Given the description of an element on the screen output the (x, y) to click on. 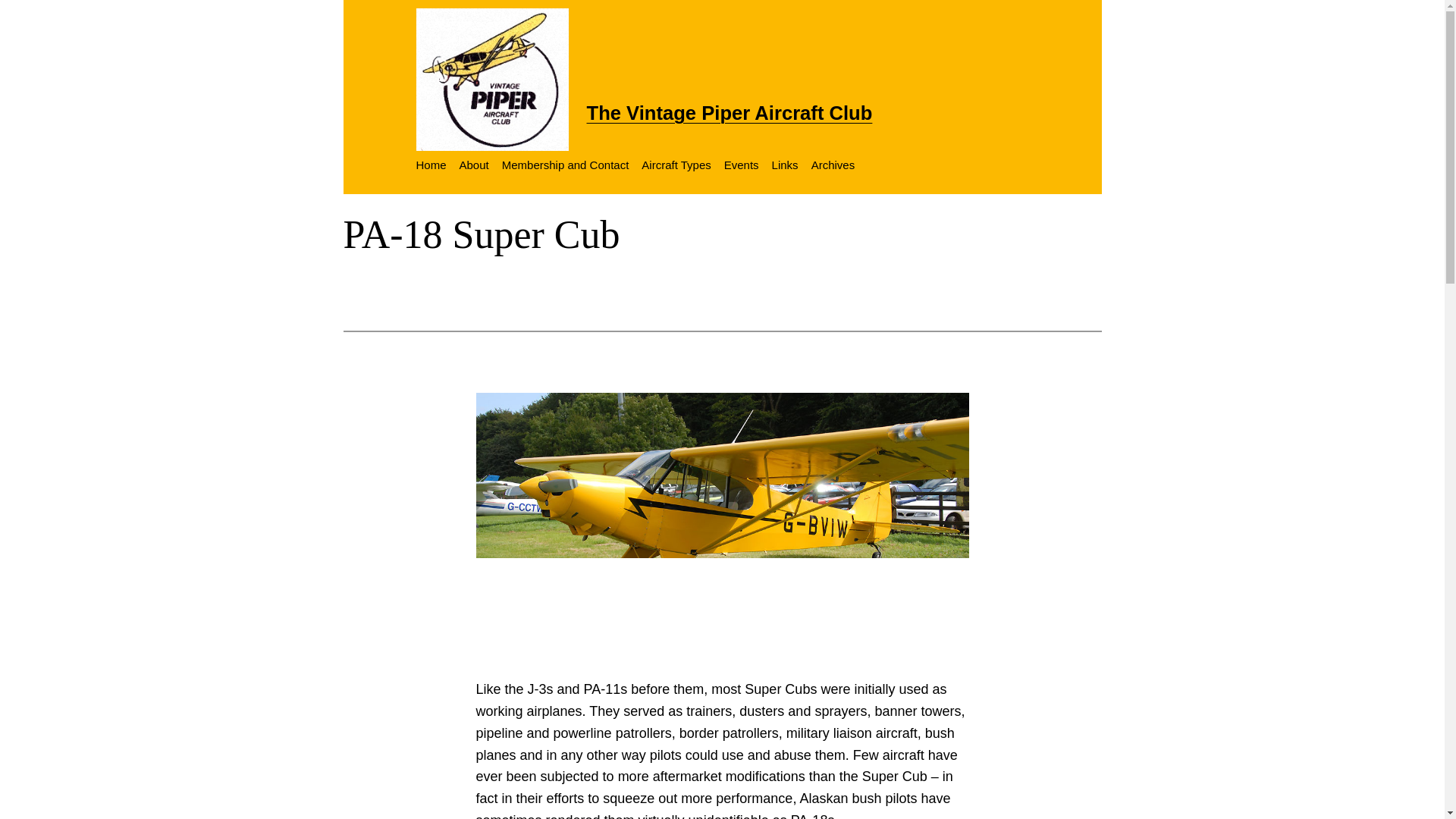
The Vintage Piper Aircraft Club (729, 112)
Membership and Contact (565, 165)
Aircraft Types (676, 165)
Archives (833, 165)
Home (429, 165)
Events (740, 165)
Links (784, 165)
About (474, 165)
